Given the description of an element on the screen output the (x, y) to click on. 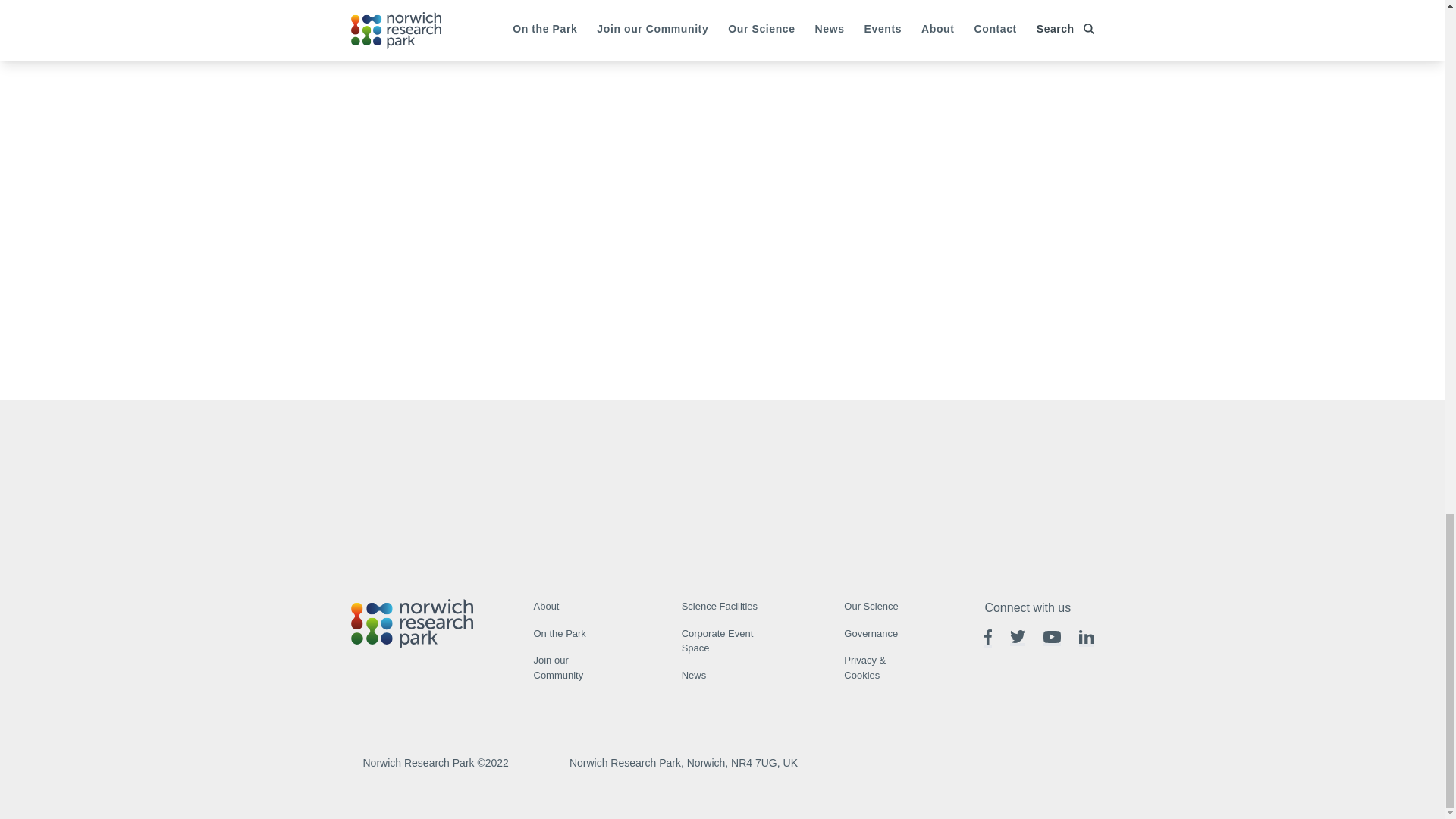
Form 0 (721, 481)
